Given the description of an element on the screen output the (x, y) to click on. 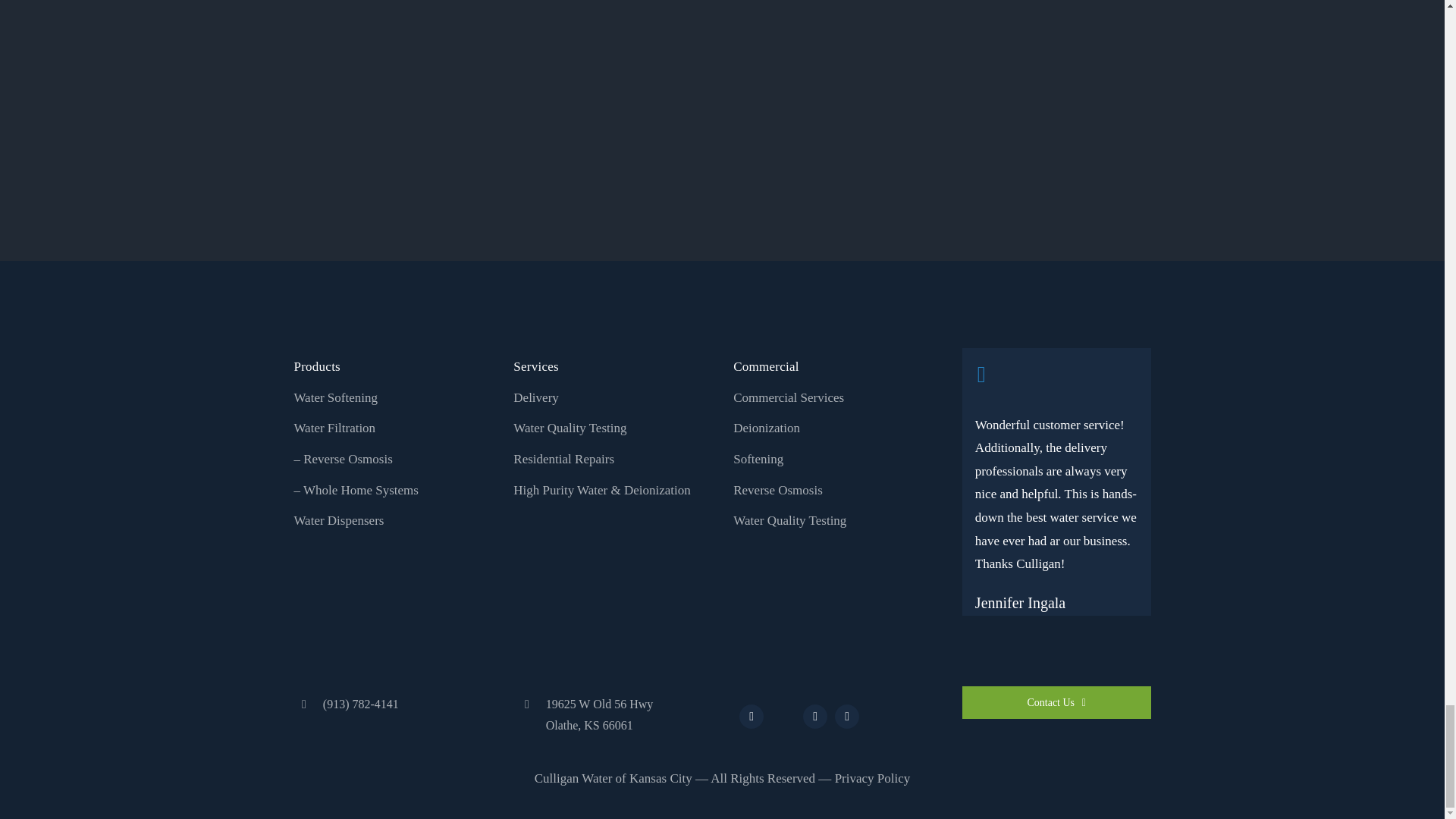
Facebook (750, 716)
Twitter (782, 714)
LinkedIn (846, 716)
Instagram (815, 716)
